Given the description of an element on the screen output the (x, y) to click on. 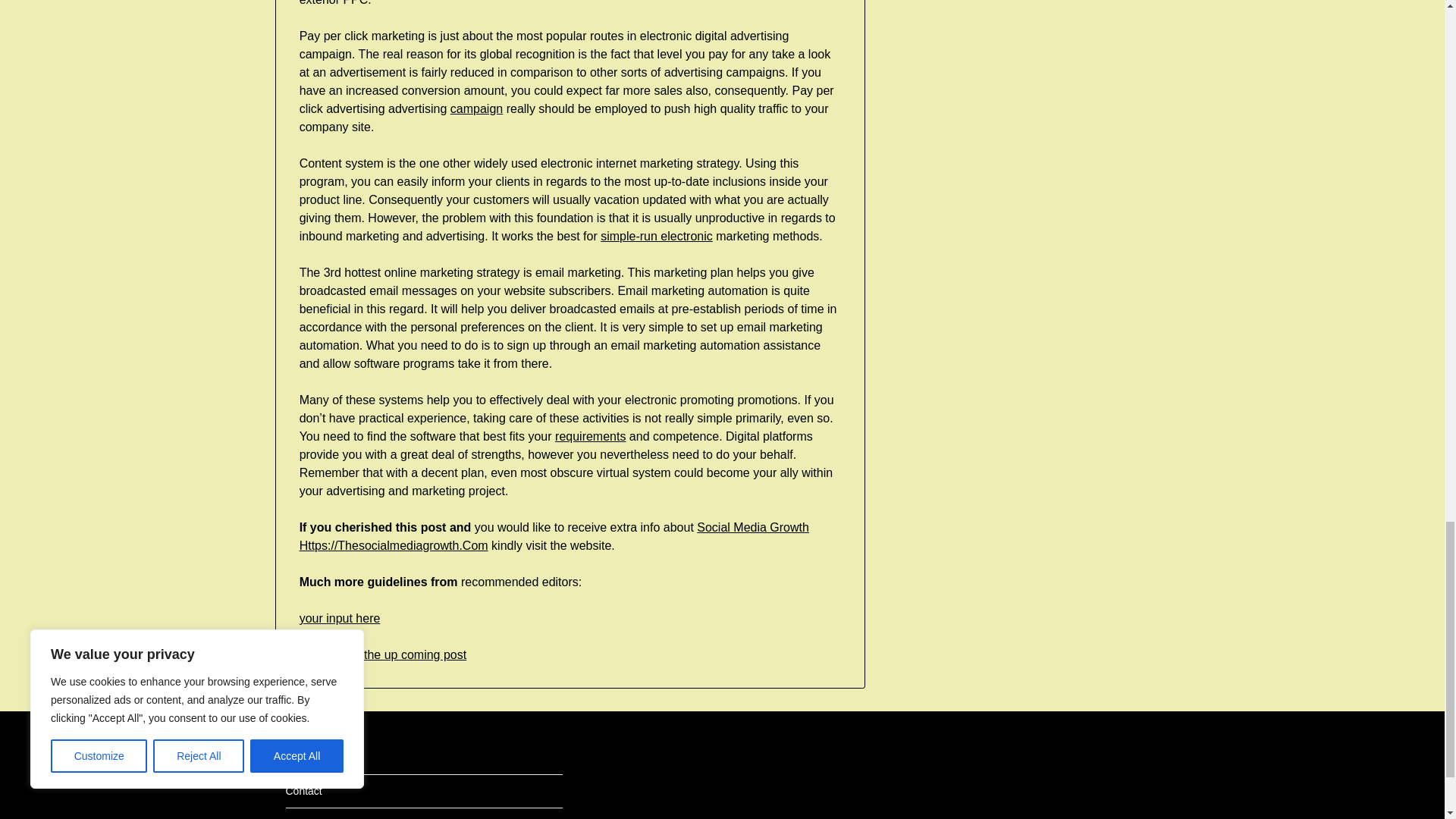
campaign (475, 108)
simply click the up coming post (383, 654)
your input here (339, 617)
requirements (590, 436)
simple-run electronic (656, 236)
